Given the description of an element on the screen output the (x, y) to click on. 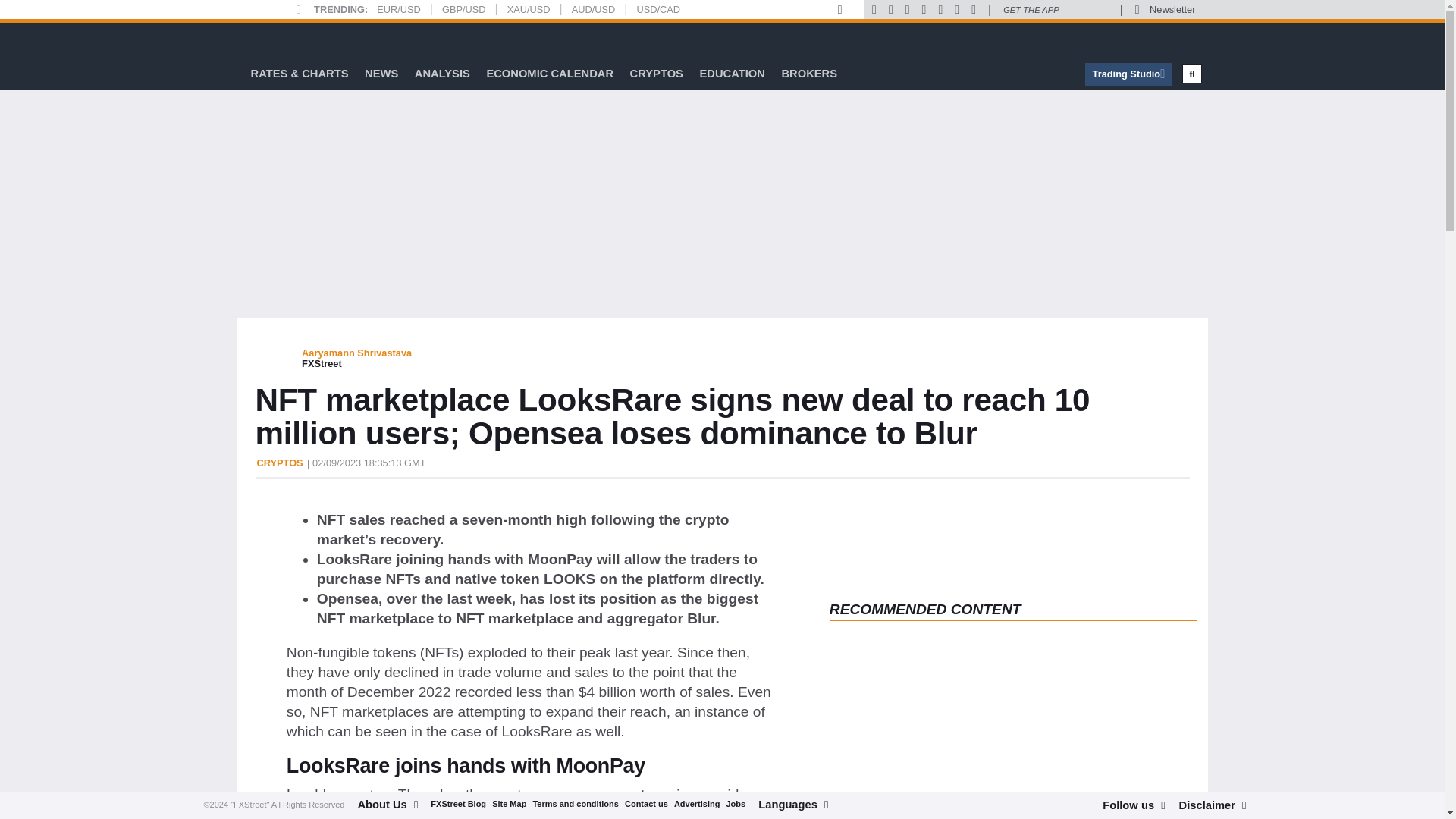
FXStreet (290, 39)
Newsletter (1172, 9)
FXStreet (290, 39)
